Given the description of an element on the screen output the (x, y) to click on. 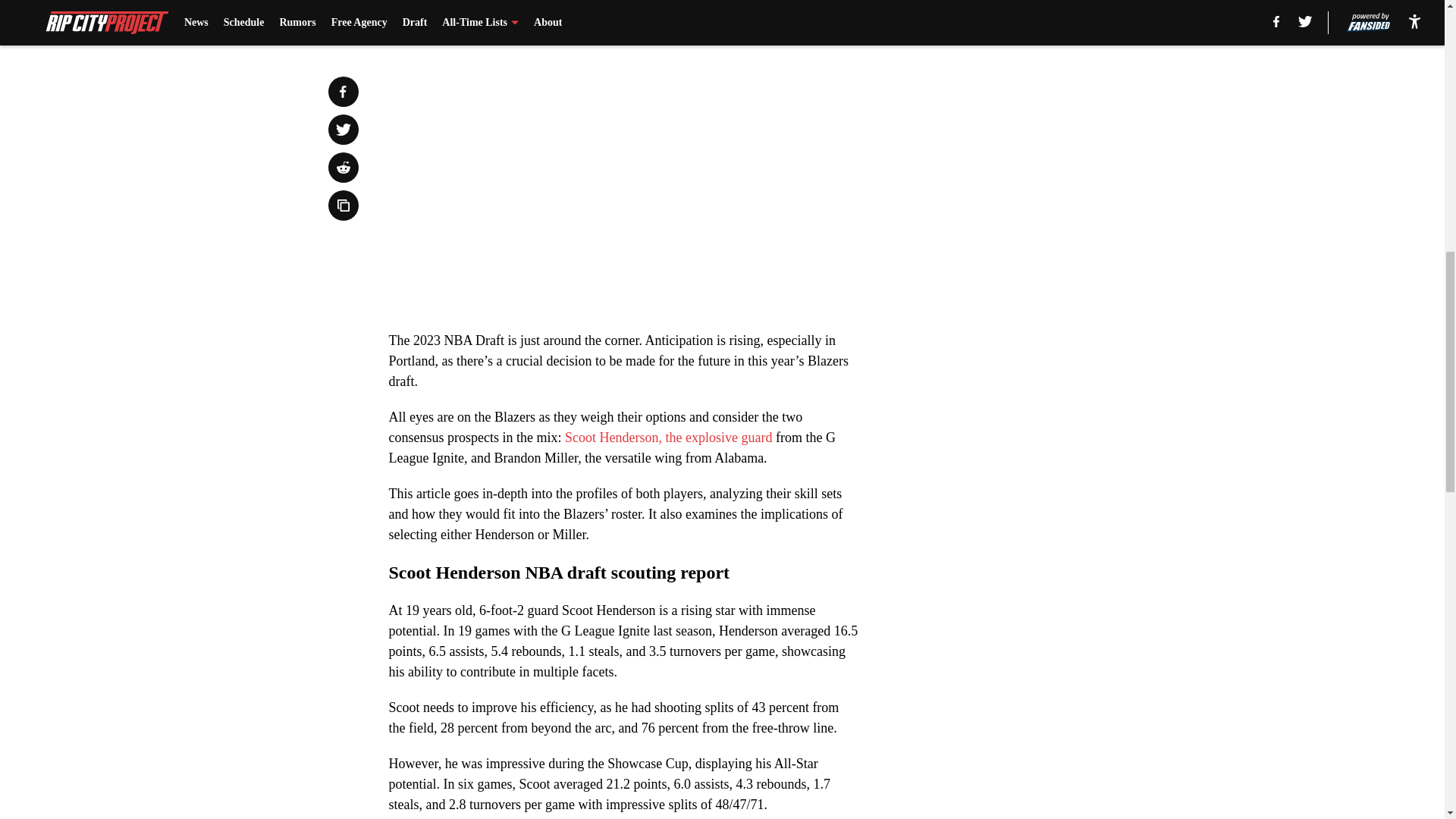
Next (813, 20)
Prev (433, 20)
Scoot Henderson, the explosive guard (667, 437)
